Given the description of an element on the screen output the (x, y) to click on. 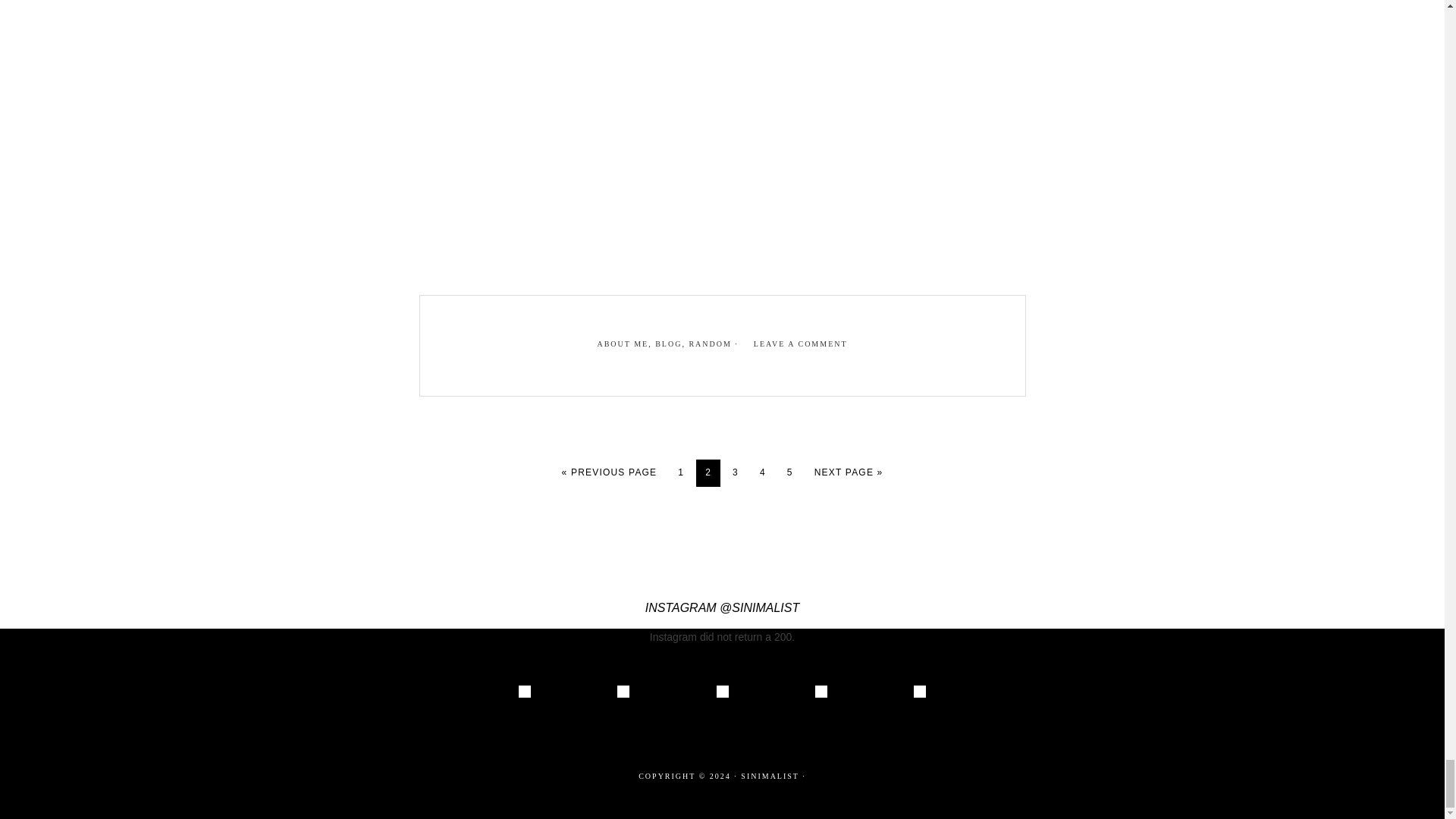
RANDOM (709, 343)
BLOG (668, 343)
ABOUT ME (621, 343)
